Given the description of an element on the screen output the (x, y) to click on. 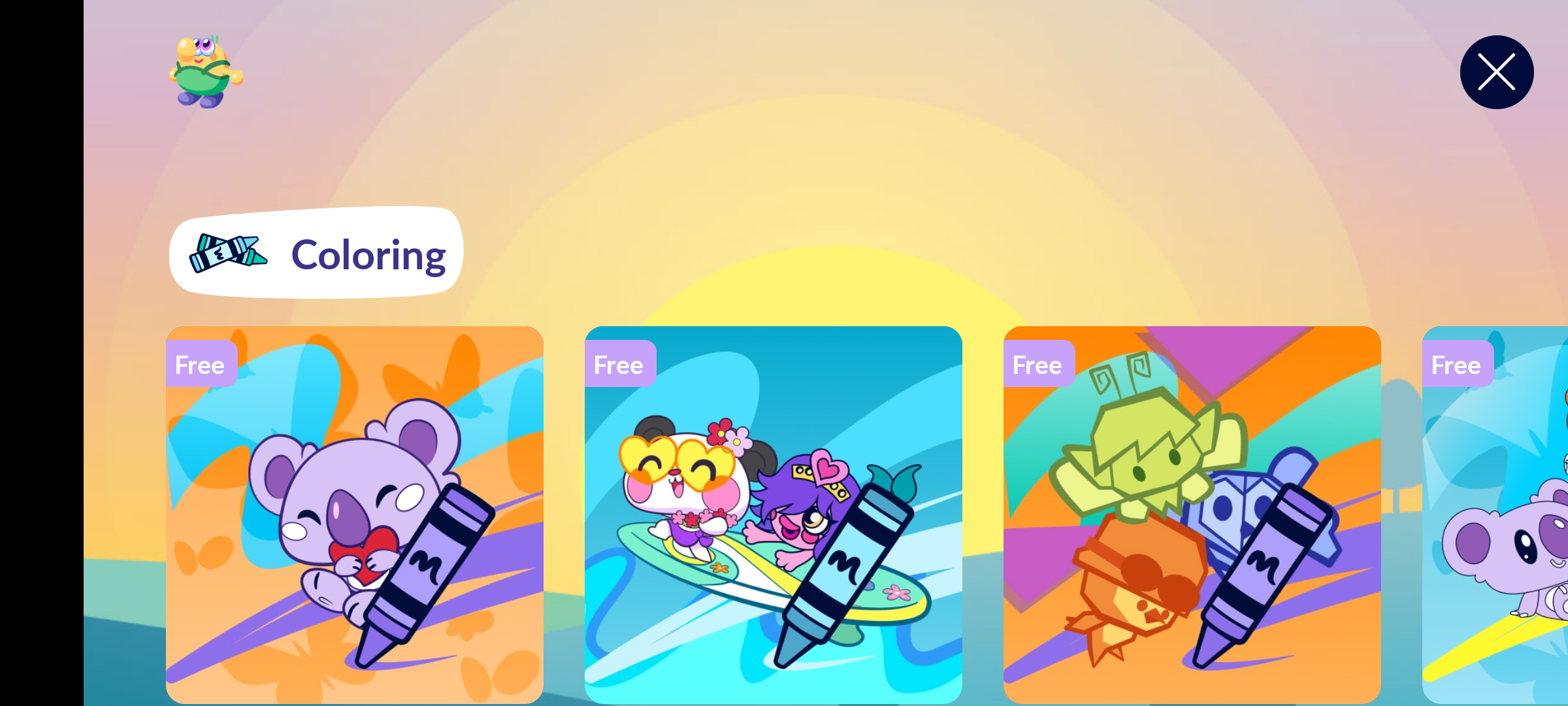
Profile icon (205, 71)
Featured Content Free (355, 514)
Featured Content Free (773, 514)
Featured Content Free (1192, 514)
